Given the description of an element on the screen output the (x, y) to click on. 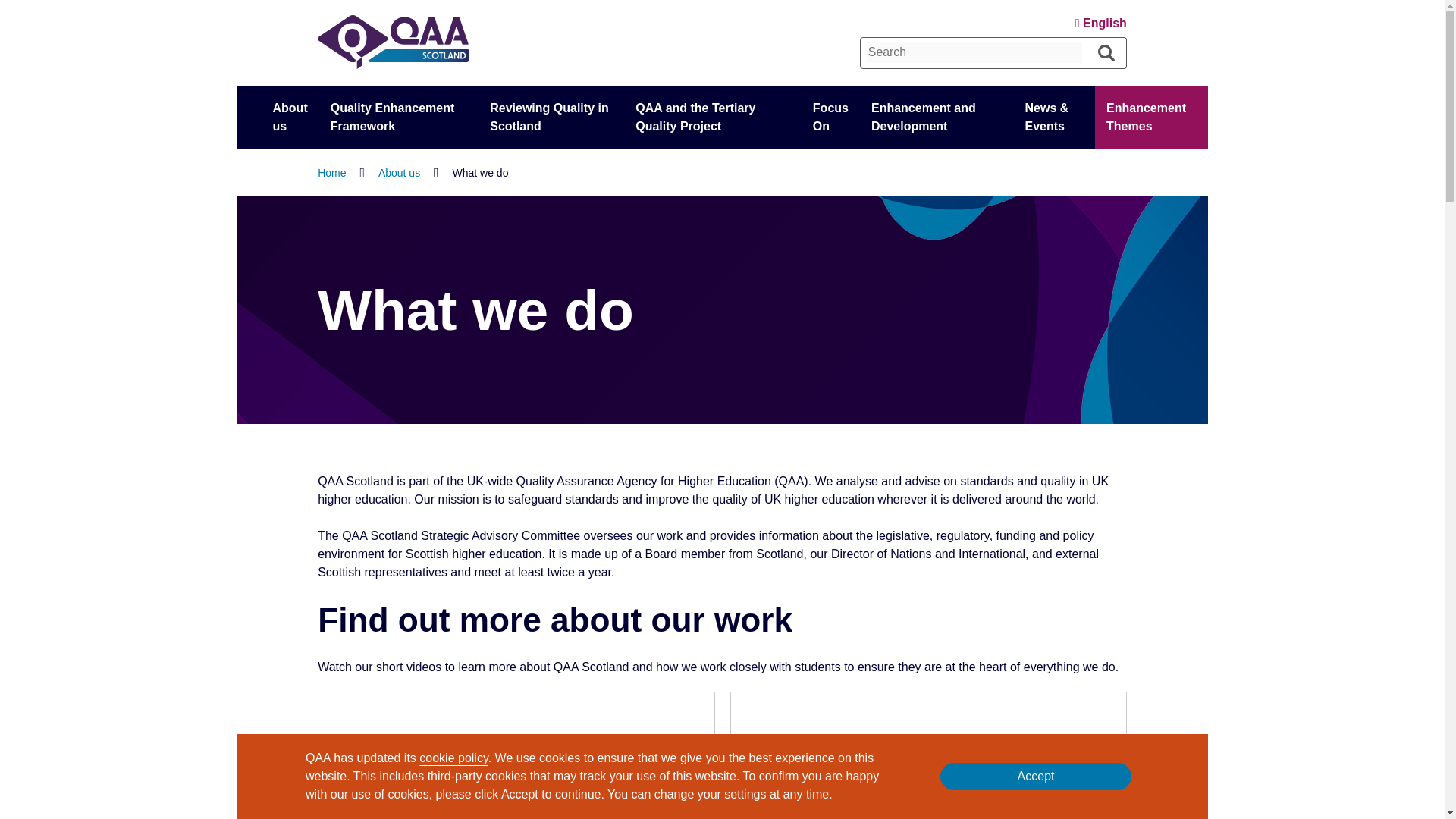
Search input (973, 52)
YouTube video: Student Engagement at QAA Scotland (927, 763)
Accept (1035, 776)
Reviewing Quality in Scotland (551, 117)
change your settings (710, 793)
About us (289, 117)
cookie policy (453, 757)
English (1100, 22)
Quality Enhancement Framework (398, 117)
YouTube video: The Work of QAA Scotland (515, 763)
